Given the description of an element on the screen output the (x, y) to click on. 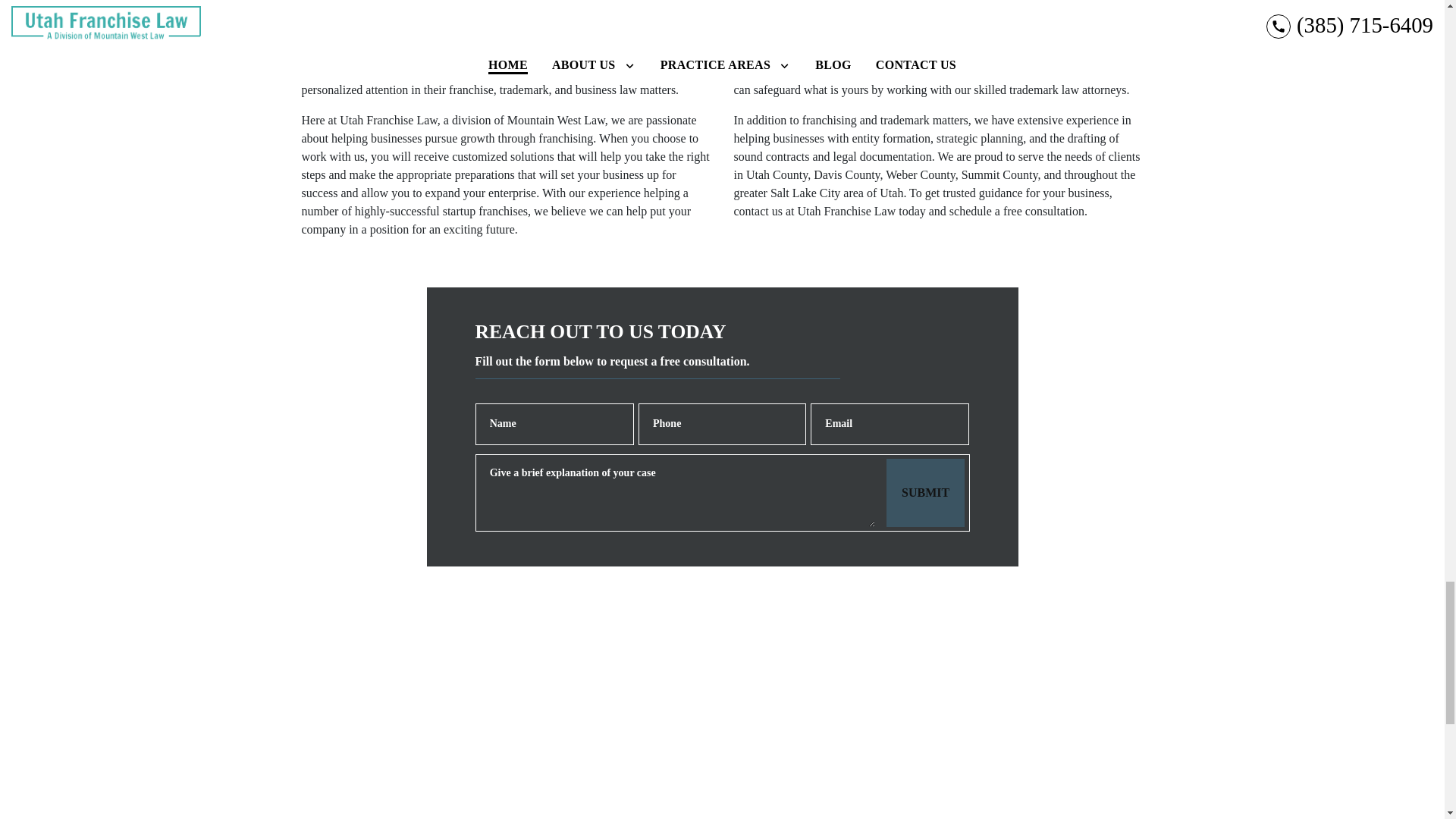
SUBMIT (924, 492)
